Given the description of an element on the screen output the (x, y) to click on. 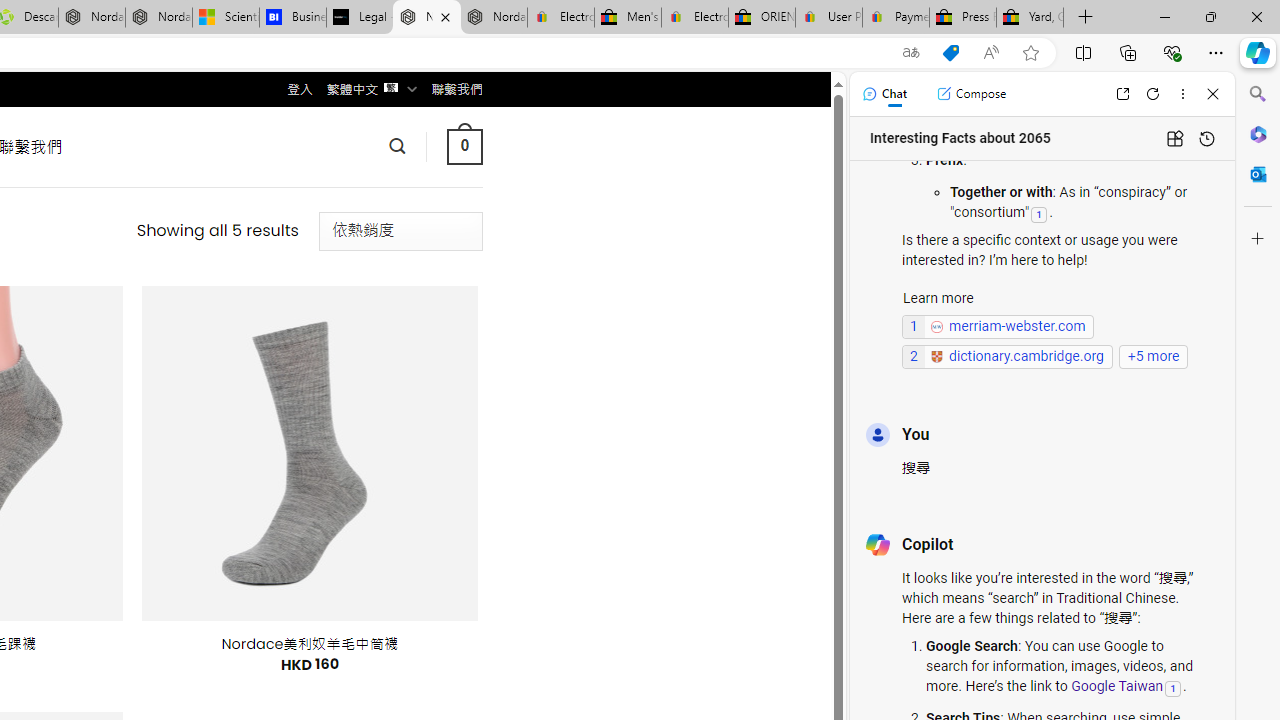
  0   (464, 146)
Press Room - eBay Inc. (962, 17)
